Given the description of an element on the screen output the (x, y) to click on. 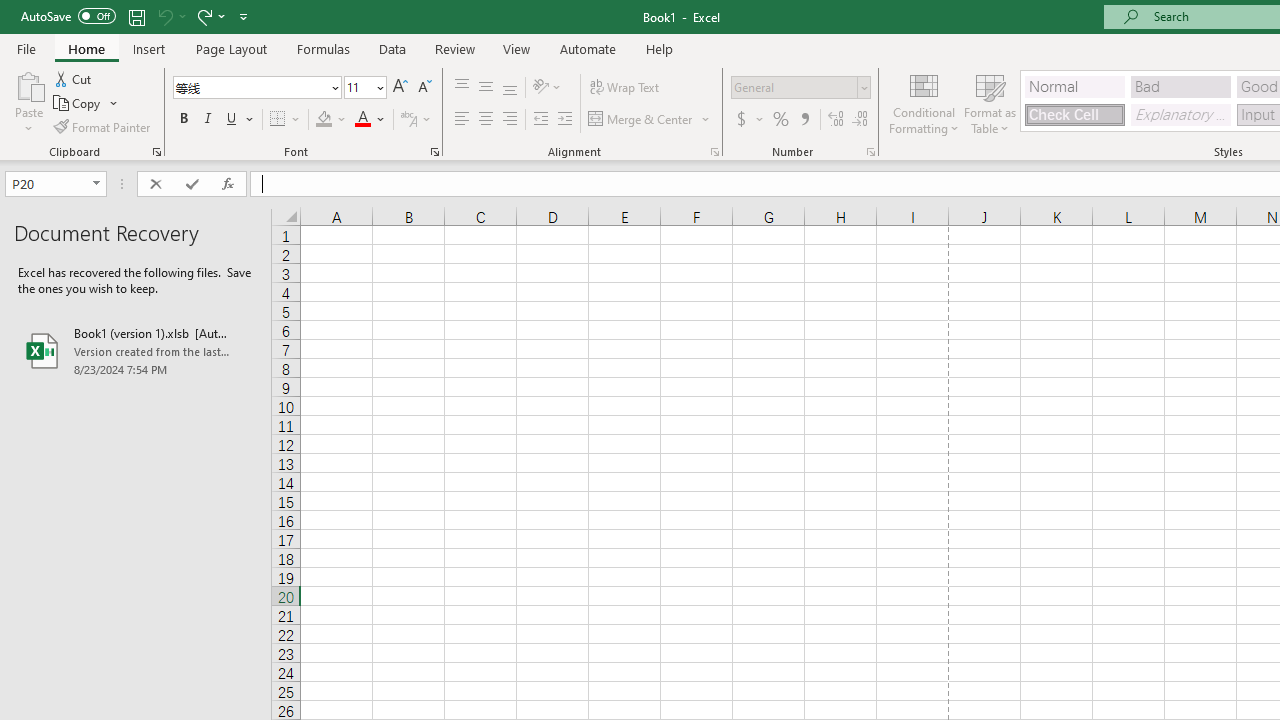
Increase Indent (565, 119)
Align Left (461, 119)
Fill Color (331, 119)
Font (250, 87)
Show Phonetic Field (408, 119)
Decrease Indent (540, 119)
Copy (85, 103)
Percent Style (781, 119)
Format Cell Alignment (714, 151)
Underline (232, 119)
